Given the description of an element on the screen output the (x, y) to click on. 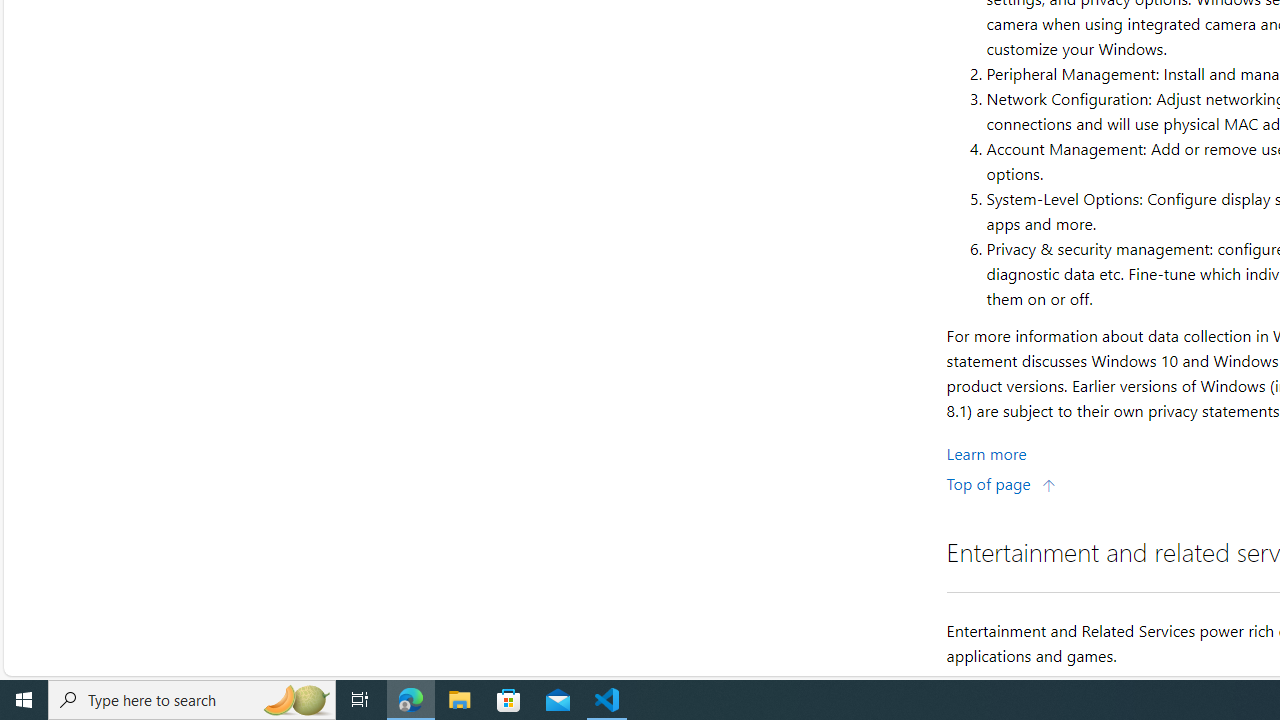
Top of page (1001, 482)
Learn More about Windows (985, 452)
